Given the description of an element on the screen output the (x, y) to click on. 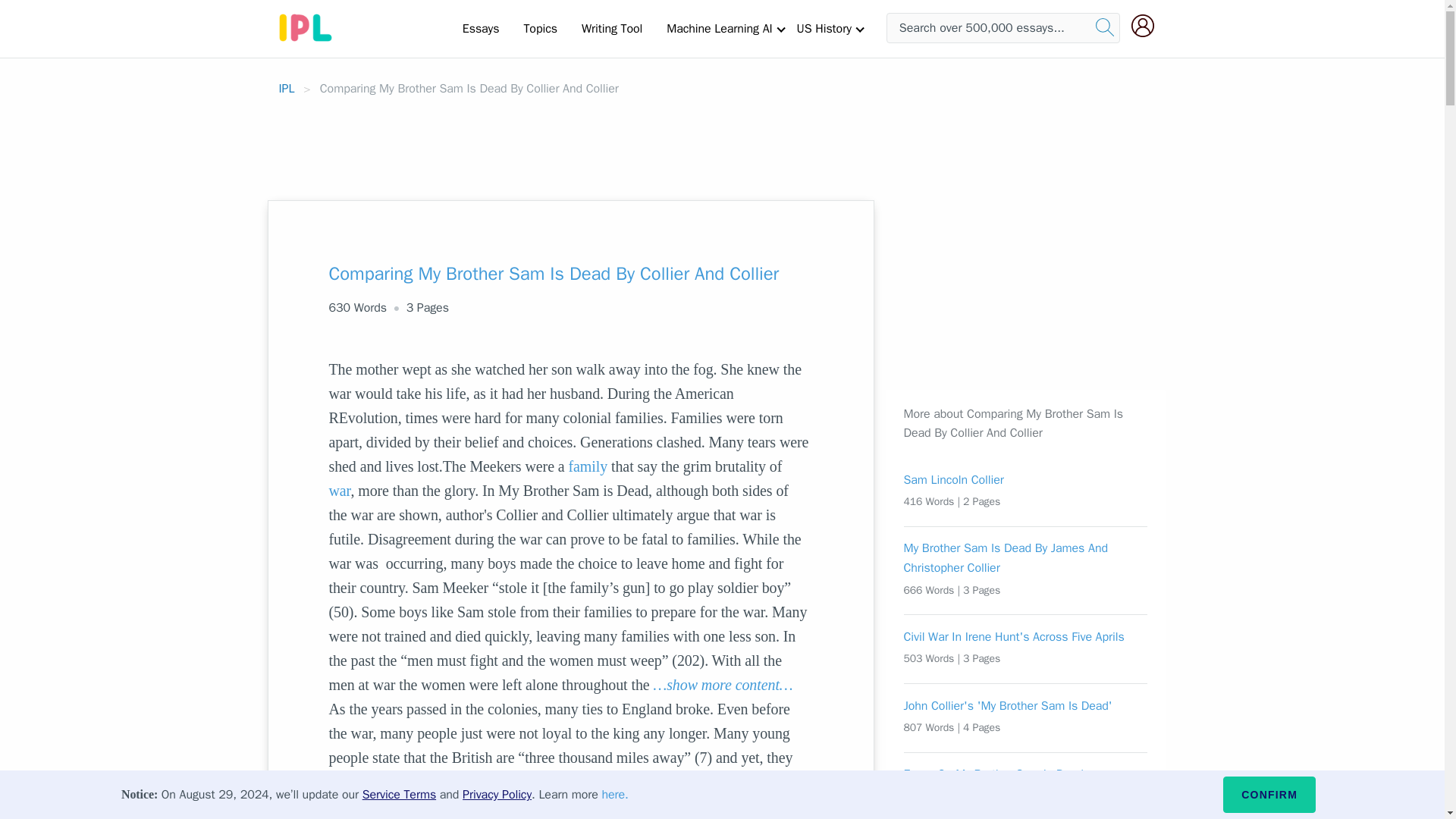
Essays (480, 28)
US History (823, 28)
family (588, 466)
IPL (287, 88)
Machine Learning AI (718, 28)
Writing Tool (611, 28)
war (339, 490)
Topics (540, 28)
